Given the description of an element on the screen output the (x, y) to click on. 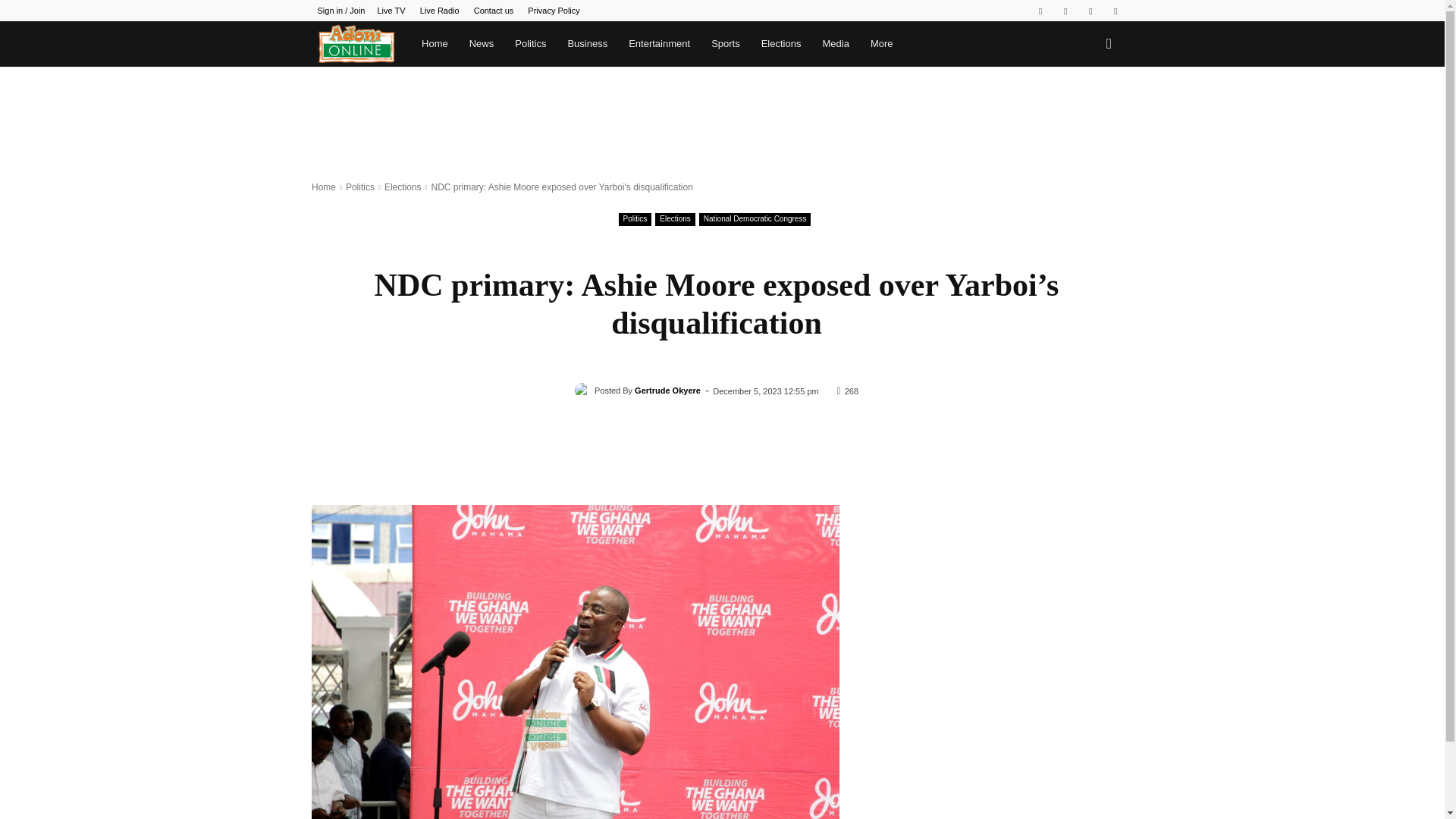
Linkedin (1065, 10)
Gertrude Okyere (584, 390)
Twitter (1090, 10)
Youtube (1114, 10)
View all posts in Elections (403, 186)
View all posts in Politics (360, 186)
Live TV (390, 10)
Privacy Policy (553, 10)
Live Radio (440, 10)
Adomonline Logo (356, 44)
